Given the description of an element on the screen output the (x, y) to click on. 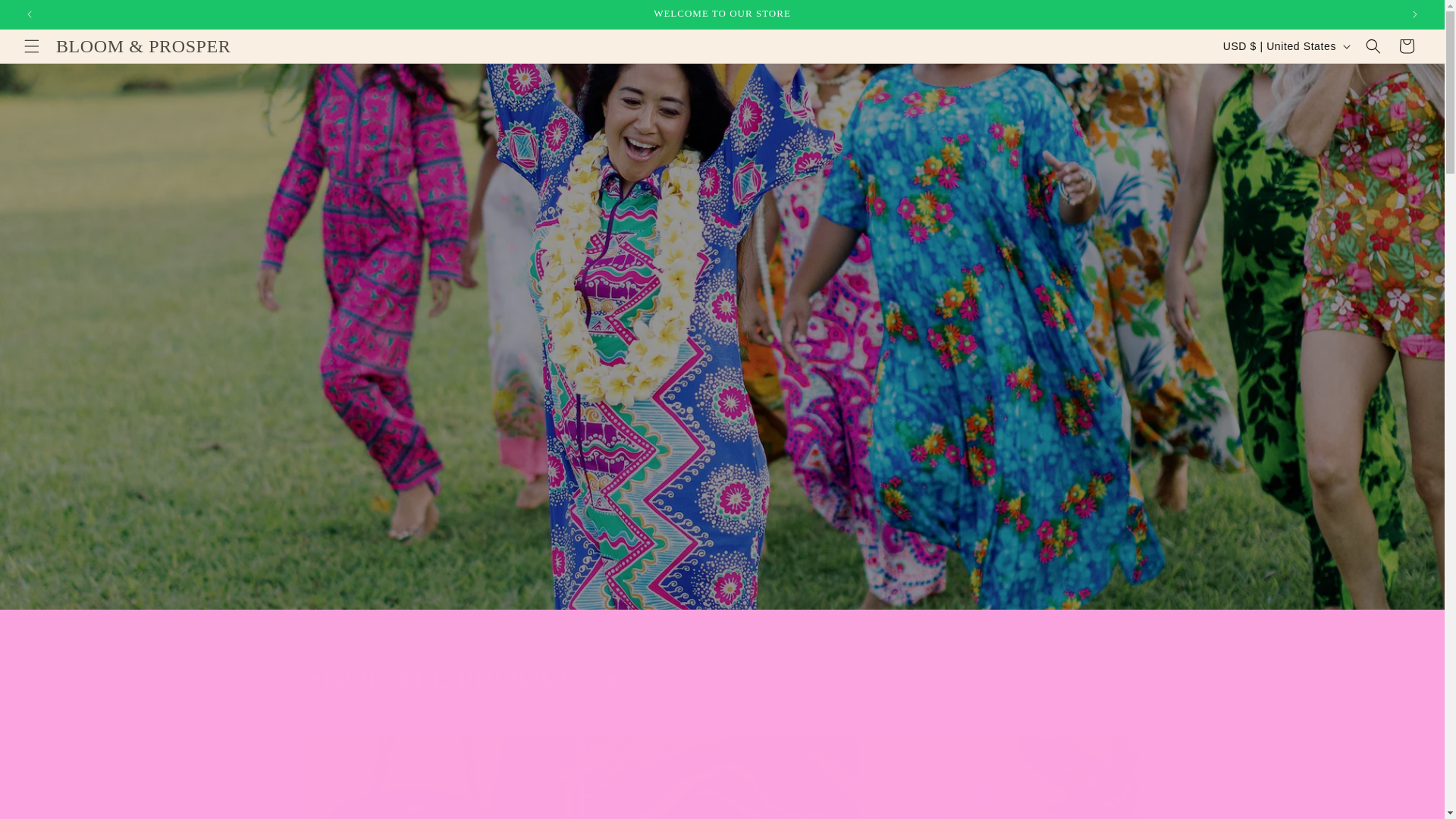
Skip to content (45, 17)
Cart (721, 538)
SHOP ALL PRODUCTS (1406, 46)
